Given the description of an element on the screen output the (x, y) to click on. 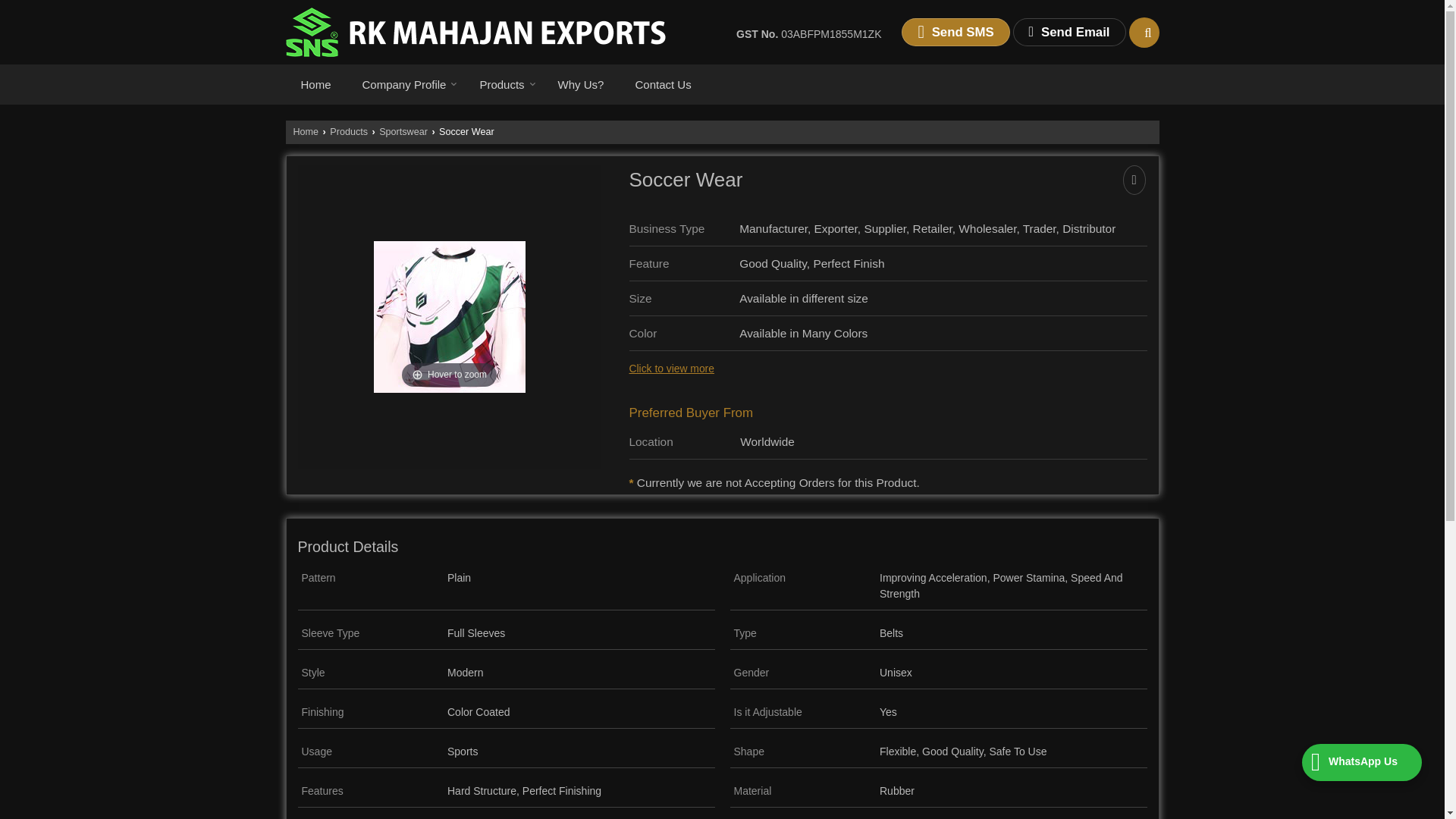
Products (502, 83)
Company Profile (405, 83)
Send SMS (955, 31)
RK Mahajan Exports (475, 31)
Send Email (1069, 31)
Company Profile (405, 83)
Home (315, 83)
Products (502, 83)
Search (1143, 32)
Home (315, 83)
